Given the description of an element on the screen output the (x, y) to click on. 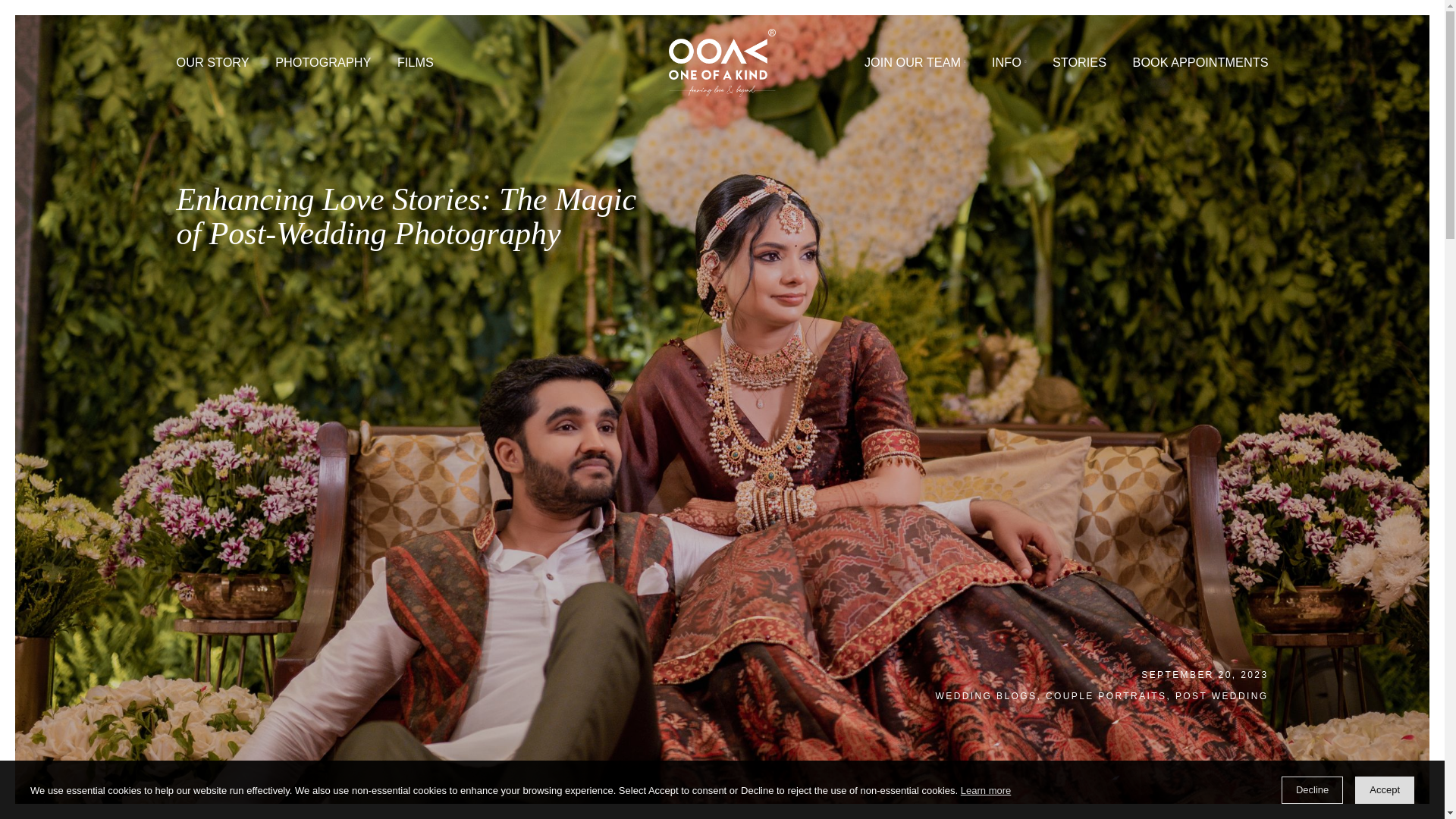
Learn more (985, 791)
FILMS (461, 69)
INFO (1120, 69)
Decline (1311, 789)
JOIN OUR TEAM (1015, 69)
STORIES (1198, 69)
Accept (1384, 789)
BOOK APPOINTMENTS (1333, 69)
PHOTOGRAPHY (358, 69)
OUR STORY (235, 69)
